Given the description of an element on the screen output the (x, y) to click on. 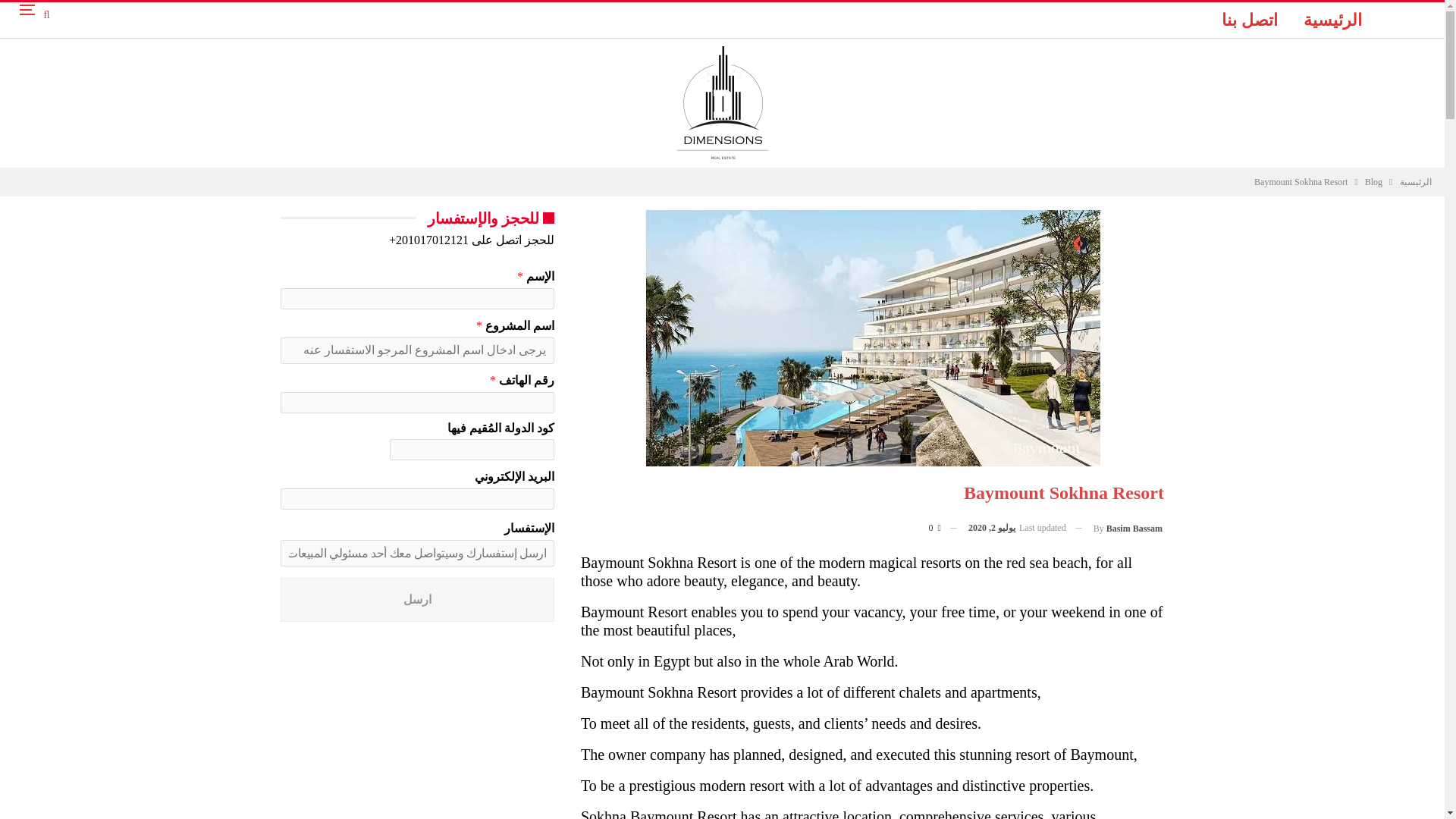
By Basim Bassam (1128, 528)
0 (942, 527)
Blog (1373, 181)
